Given the description of an element on the screen output the (x, y) to click on. 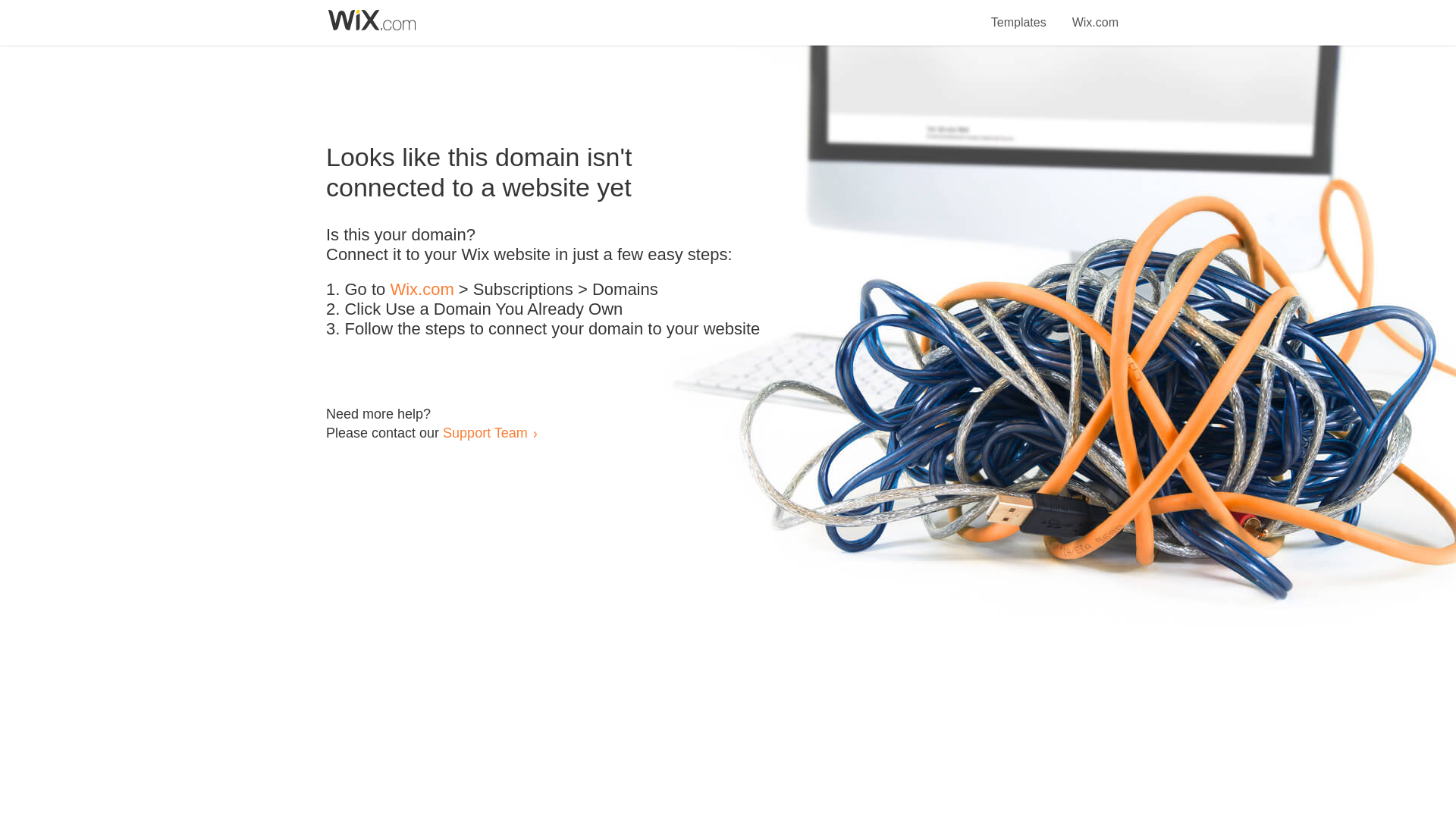
Wix.com (421, 289)
Templates (1018, 14)
Wix.com (1095, 14)
Support Team (484, 432)
